Given the description of an element on the screen output the (x, y) to click on. 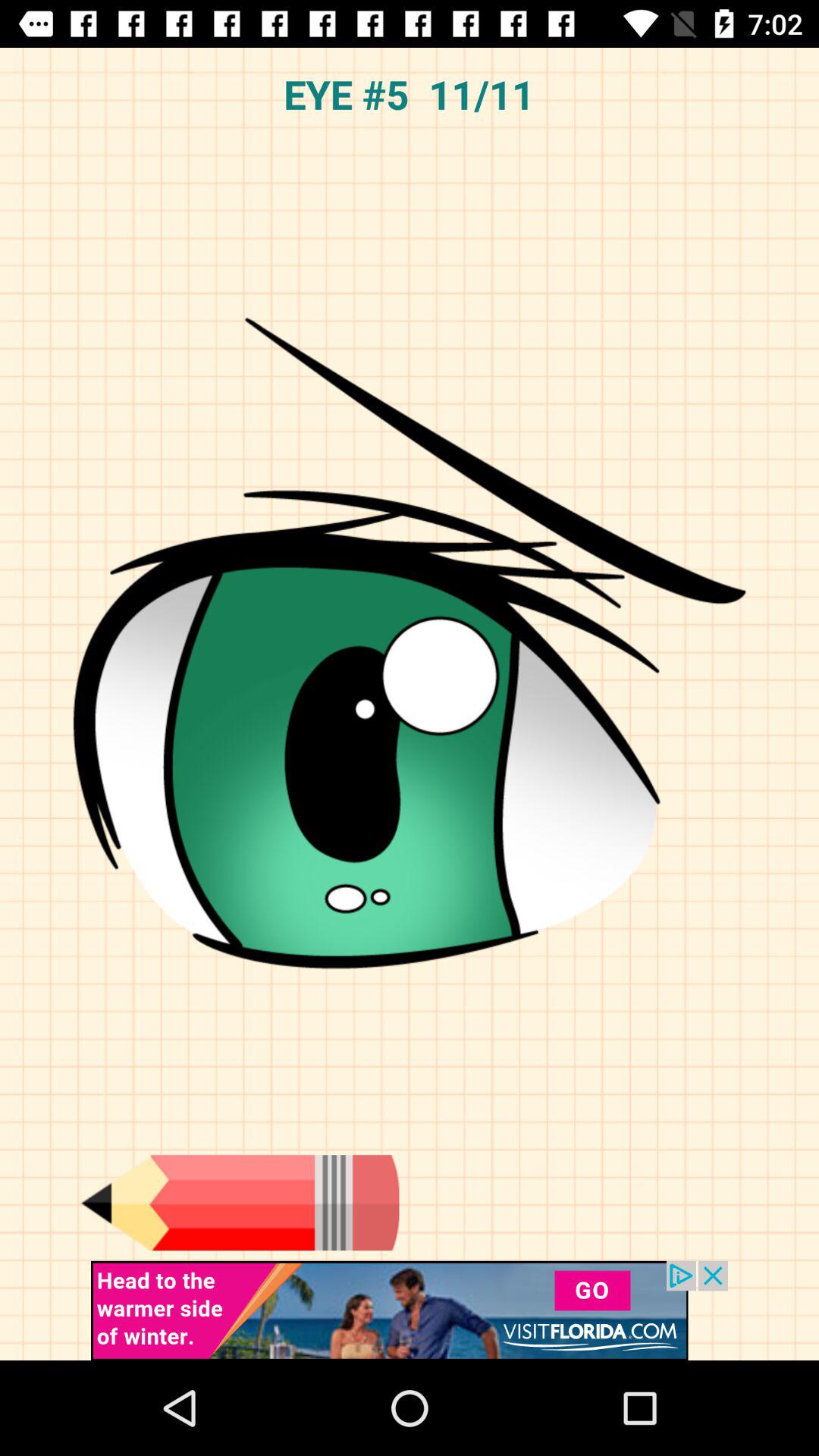
draw tool (239, 1202)
